Given the description of an element on the screen output the (x, y) to click on. 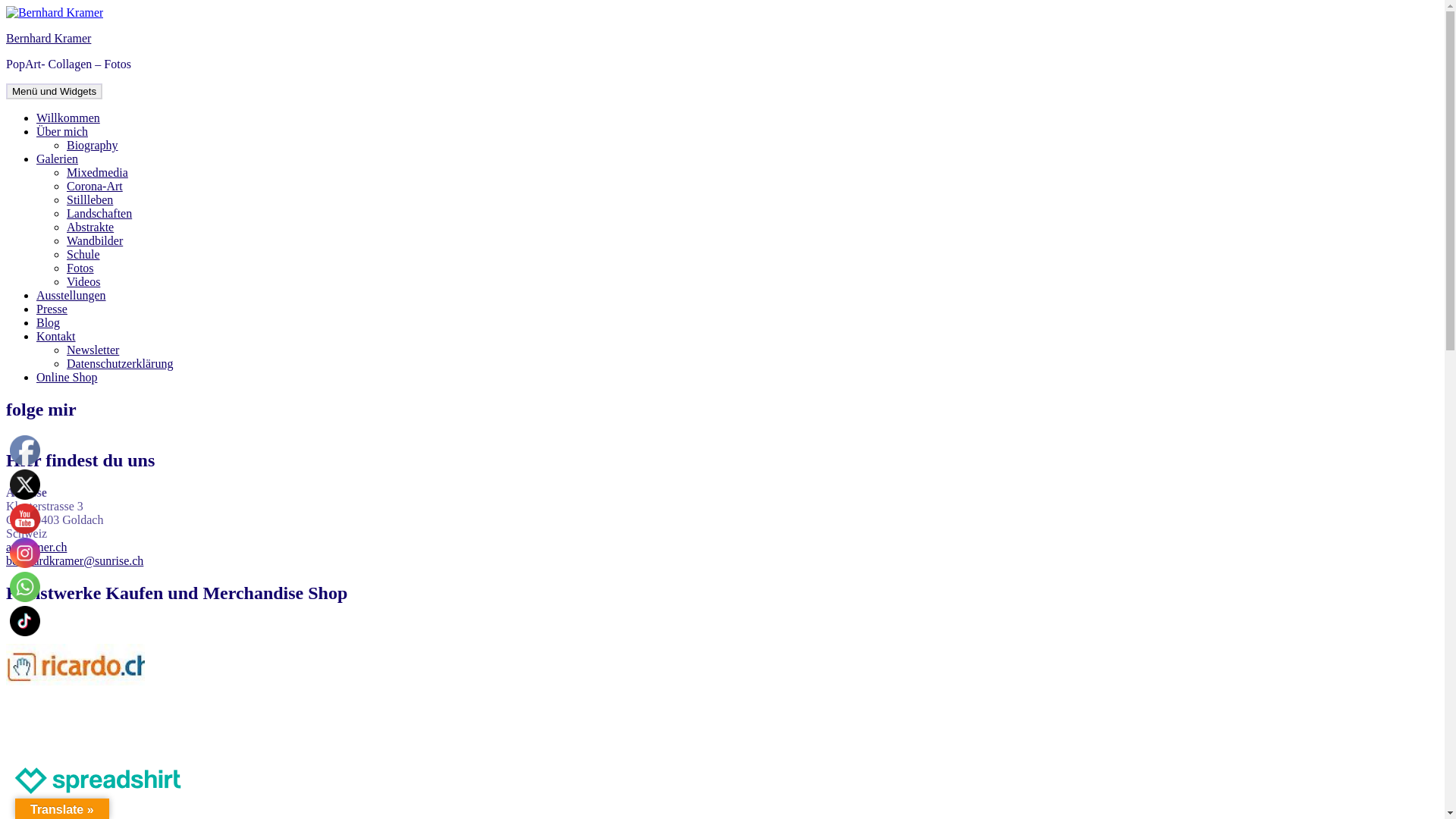
Newsletter Element type: text (92, 349)
Facebook Element type: hover (24, 450)
Bernhard Kramer Element type: text (48, 37)
Abstrakte Element type: text (89, 226)
Videos Element type: text (83, 281)
Corona-Art Element type: text (94, 185)
Presse Element type: text (51, 308)
artkramer.ch Element type: text (36, 546)
Kontakt Element type: text (55, 335)
bernhardkramer@sunrise.ch Element type: text (74, 560)
Instagram Element type: hover (24, 552)
Springe zum Inhalt Element type: text (5, 5)
Fotos Element type: text (80, 267)
Twitter Element type: hover (24, 484)
Wandbilder Element type: text (94, 240)
Willkommen Element type: text (68, 117)
Landschaften Element type: text (98, 213)
Stillleben Element type: text (89, 199)
Blog Element type: text (47, 322)
Galerien Element type: text (57, 158)
Schule Element type: text (83, 253)
Online Shop Element type: text (66, 376)
Biography Element type: text (92, 144)
Ausstellungen Element type: text (71, 294)
Mixedmedia Element type: text (97, 172)
YouTube Element type: hover (24, 518)
